Given the description of an element on the screen output the (x, y) to click on. 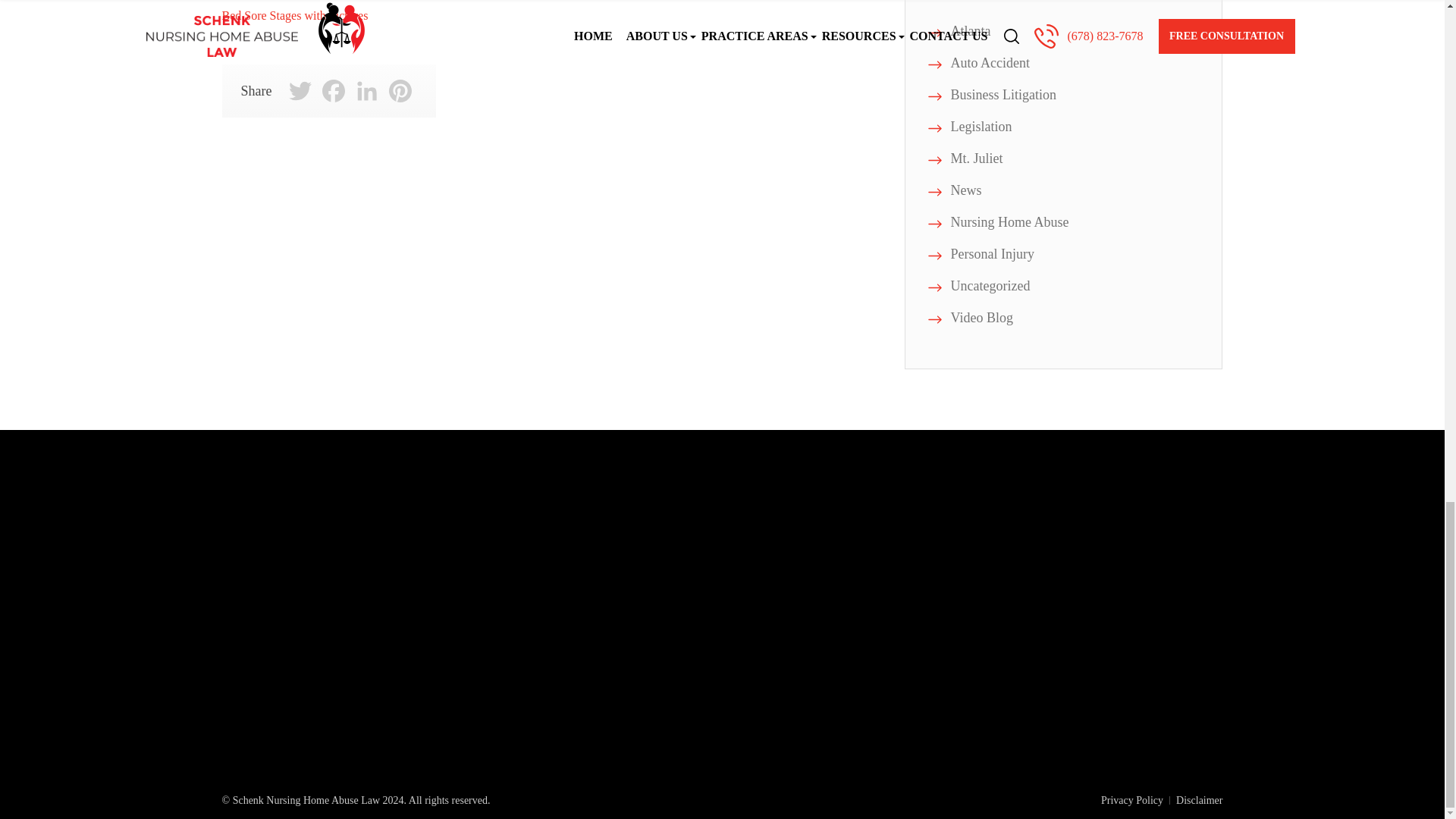
Bed Sore Stages with Pictures (294, 15)
